Given the description of an element on the screen output the (x, y) to click on. 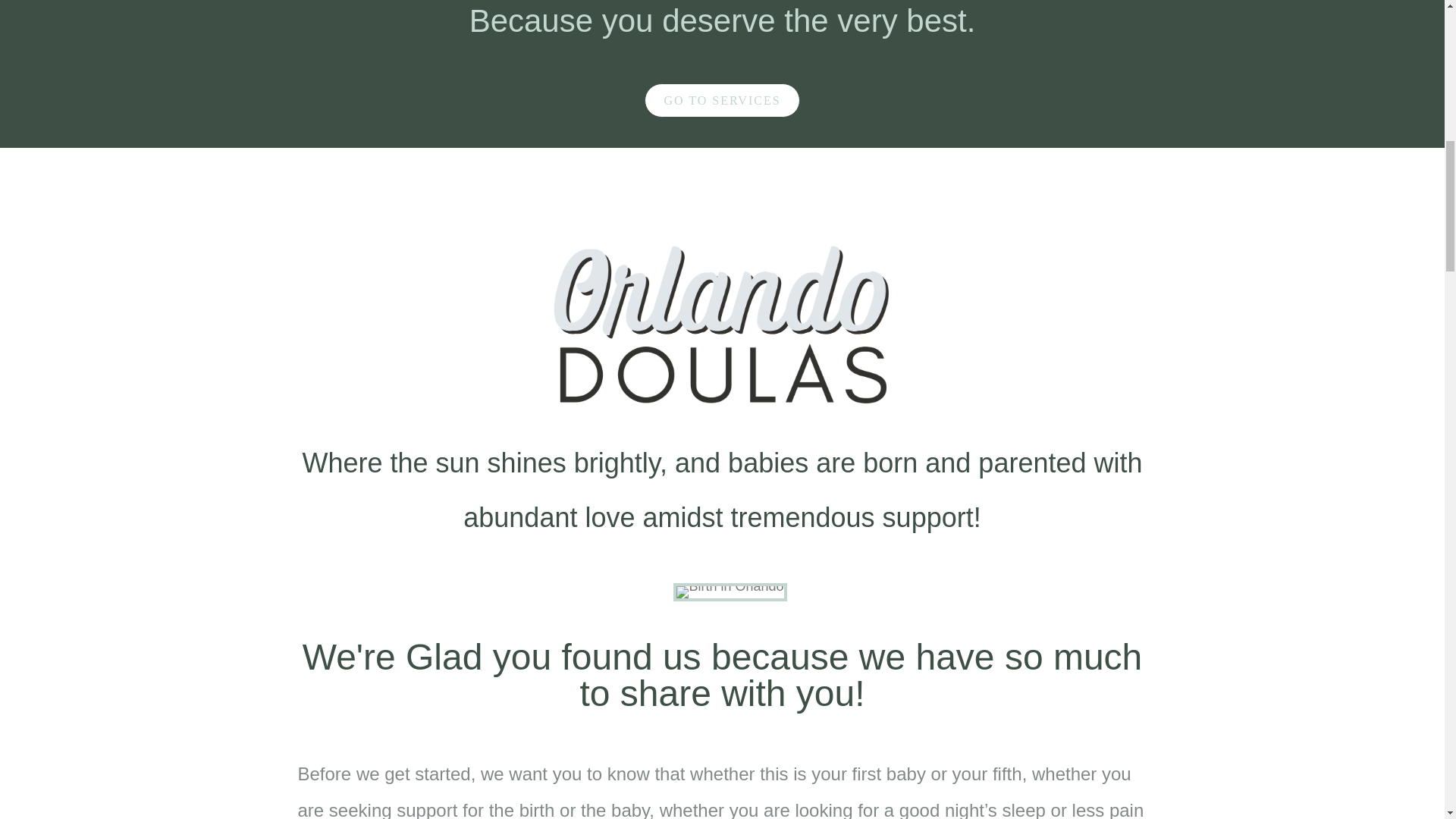
orlando-doulas-logo-transparent (721, 321)
GO TO SERVICES (722, 100)
